Given the description of an element on the screen output the (x, y) to click on. 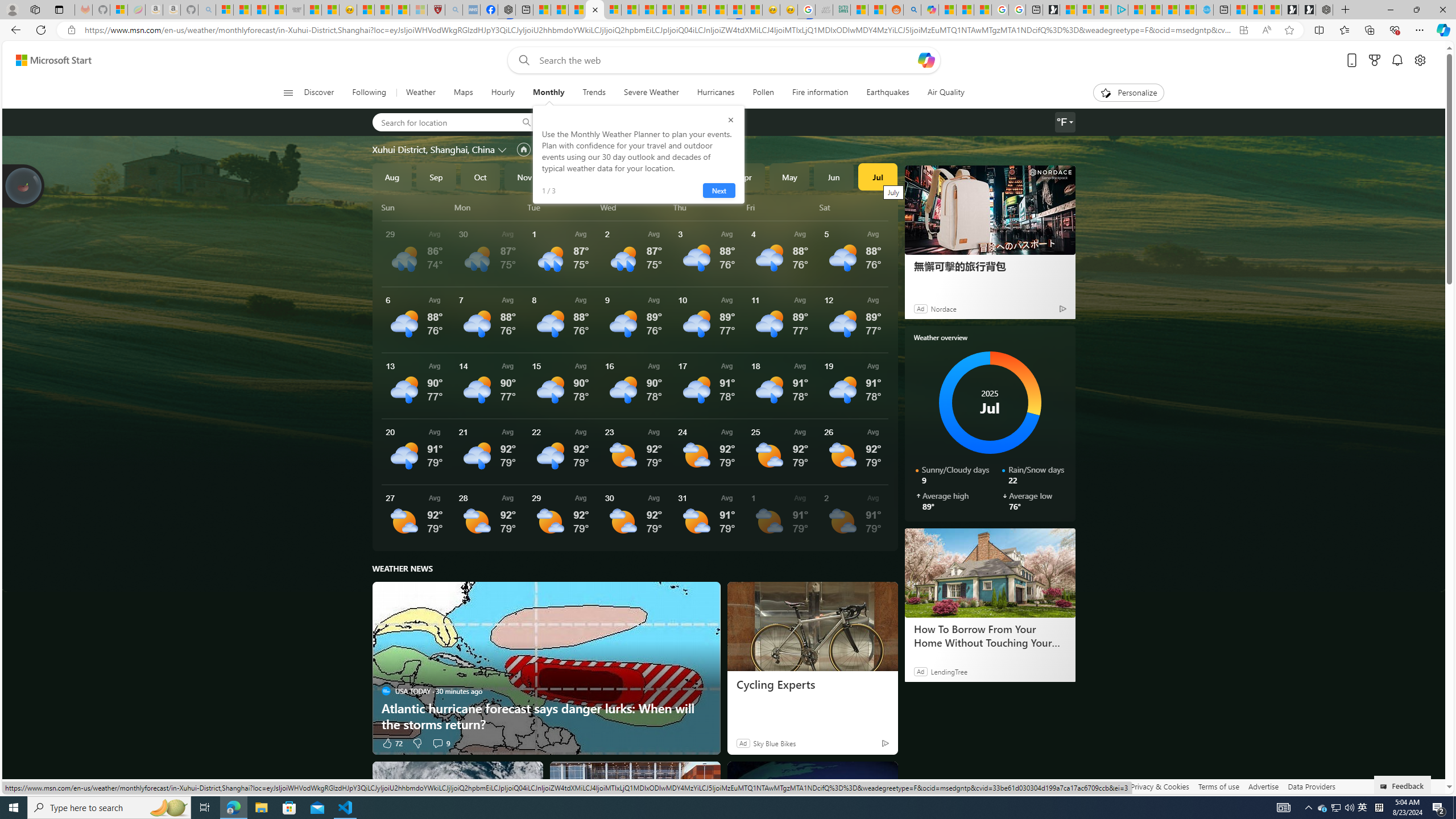
2025Jan (612, 176)
Oct (480, 176)
May (789, 176)
Hurricanes (716, 92)
LendingTree (948, 671)
Mon (489, 207)
Earthquakes (887, 92)
